Given the description of an element on the screen output the (x, y) to click on. 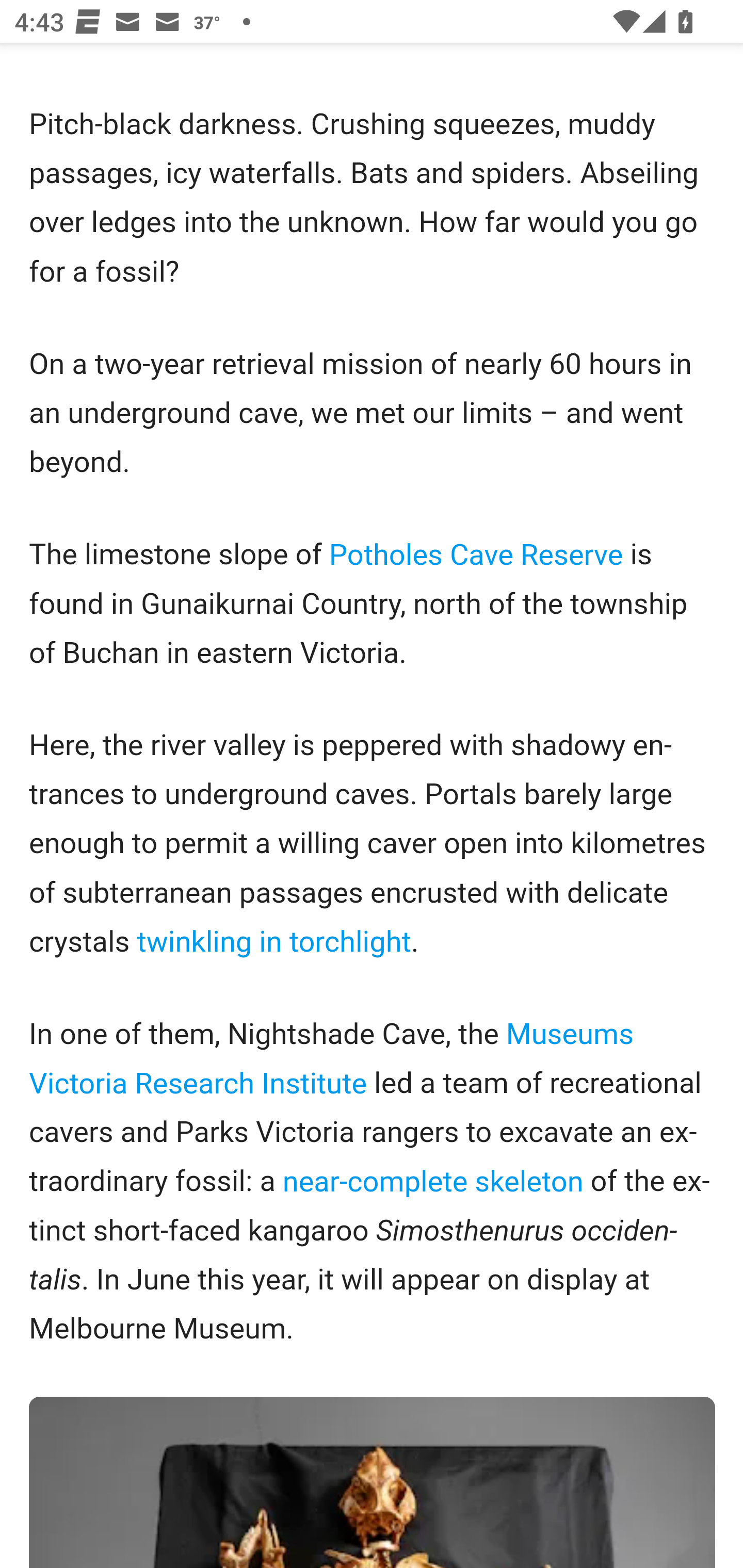
Potholes Cave Reserve (476, 553)
twinkling in torchlight (273, 941)
Museums Victoria Research Institute (332, 1059)
near-complete skeleton (433, 1180)
